Given the description of an element on the screen output the (x, y) to click on. 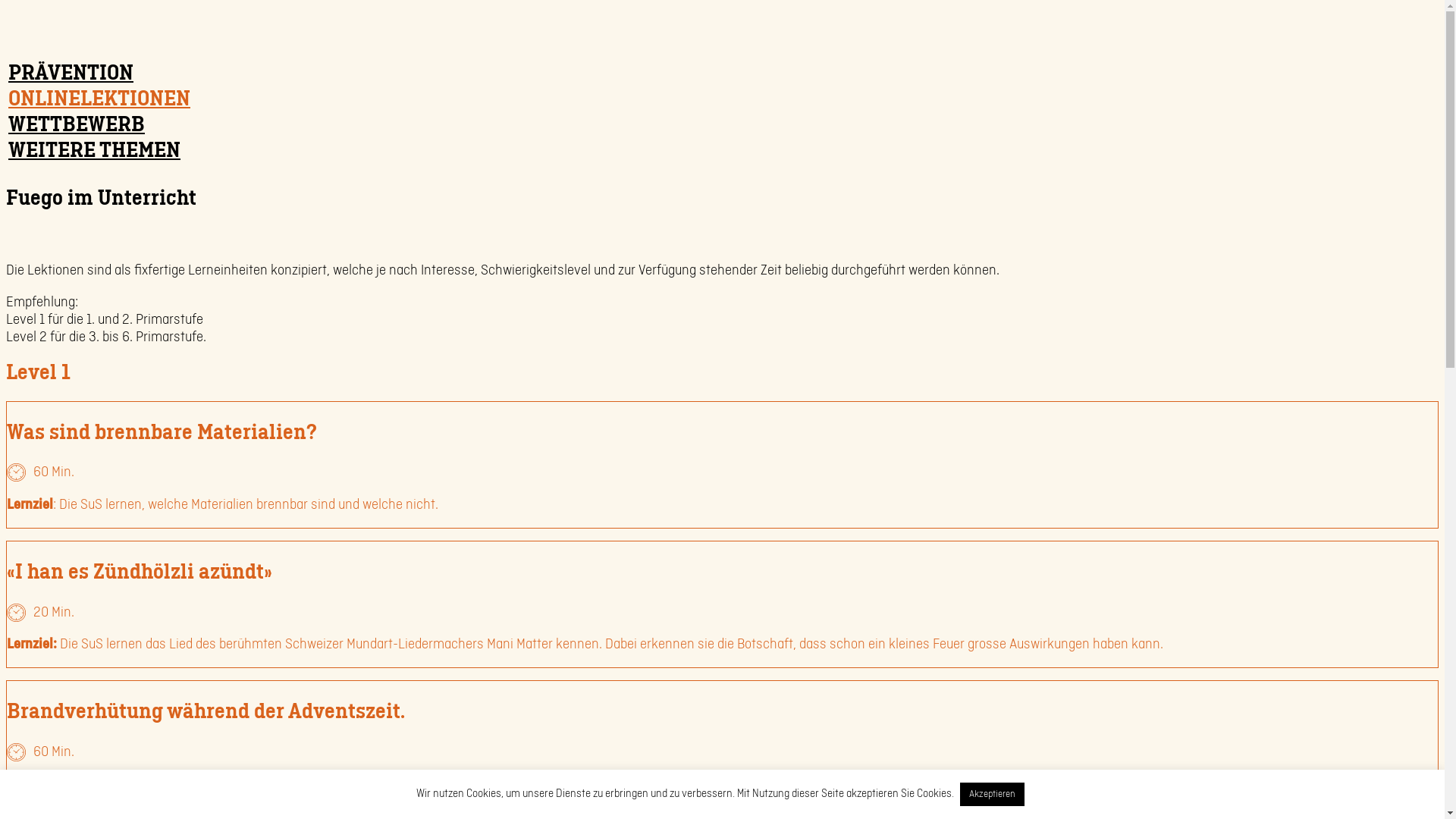
WETTBEWERB Element type: text (76, 123)
ONLINELEKTIONEN Element type: text (99, 97)
Akzeptieren Element type: text (992, 794)
WEITERE THEMEN Element type: text (94, 149)
